Given the description of an element on the screen output the (x, y) to click on. 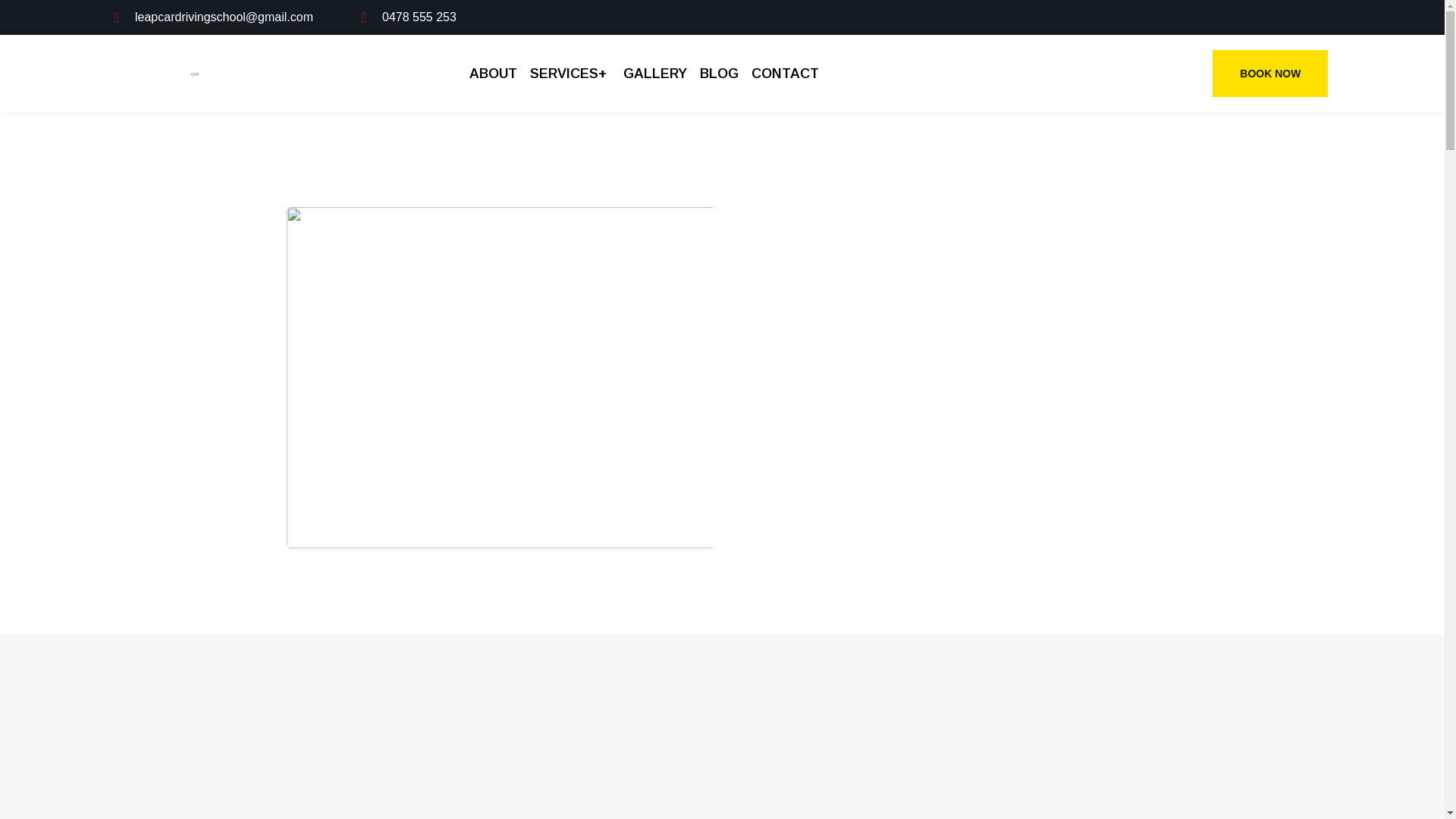
GALLERY Element type: text (654, 73)
leapcardrivingschool@gmail.com Element type: text (213, 17)
BLOG Element type: text (719, 73)
CONTACT Element type: text (783, 73)
ABOUT Element type: text (494, 73)
0478 555 253 Element type: text (408, 17)
BOOK NOW Element type: text (1269, 73)
SERVICES
+ Element type: text (570, 73)
